Given the description of an element on the screen output the (x, y) to click on. 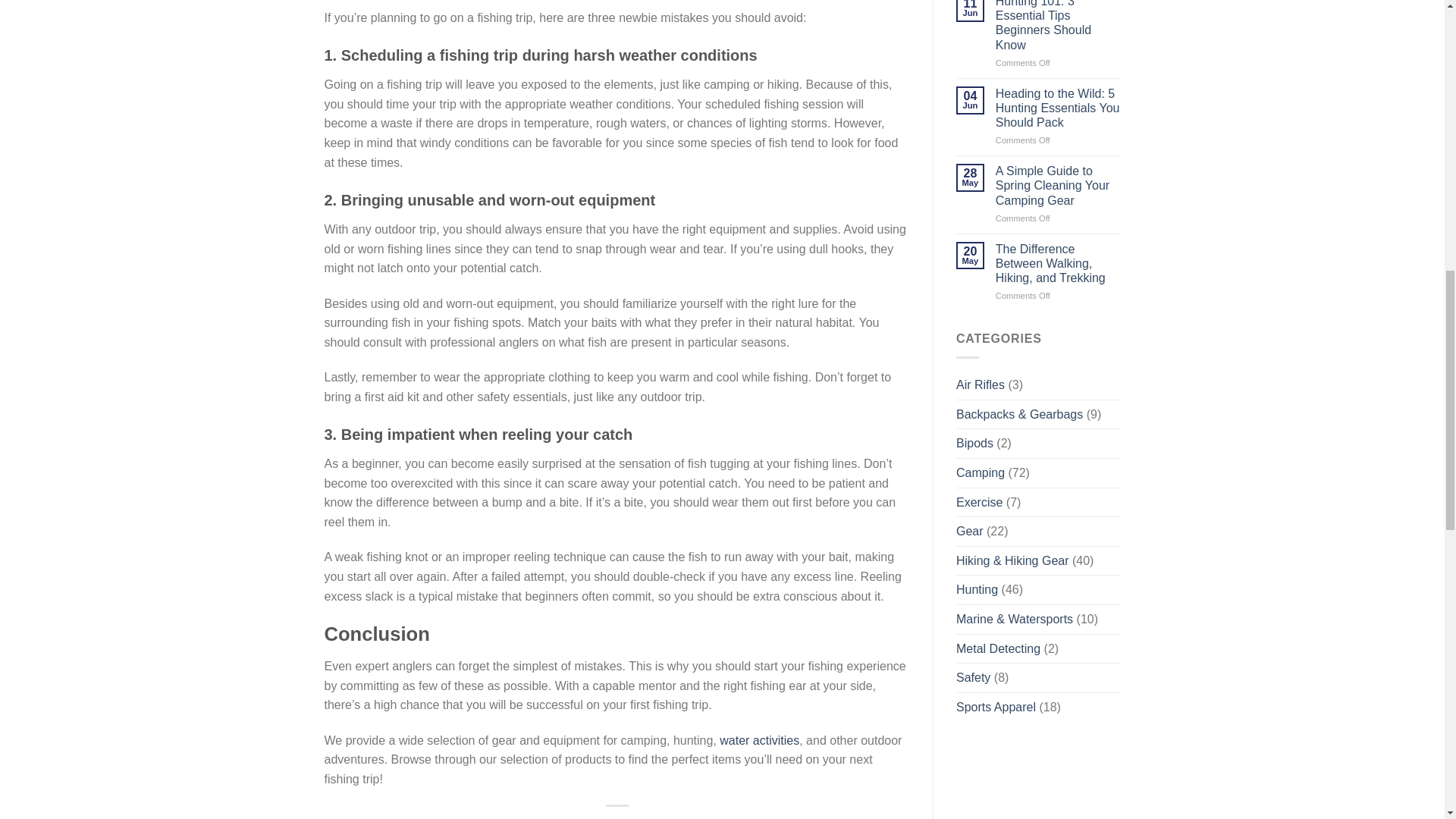
A Simple Guide to Spring Cleaning Your Camping Gear (1058, 185)
Heading to the Wild: 5 Hunting Essentials You Should Pack (1058, 108)
Hunting 101: 3 Essential Tips Beginners Should Know (1058, 26)
water activities (759, 739)
